Given the description of an element on the screen output the (x, y) to click on. 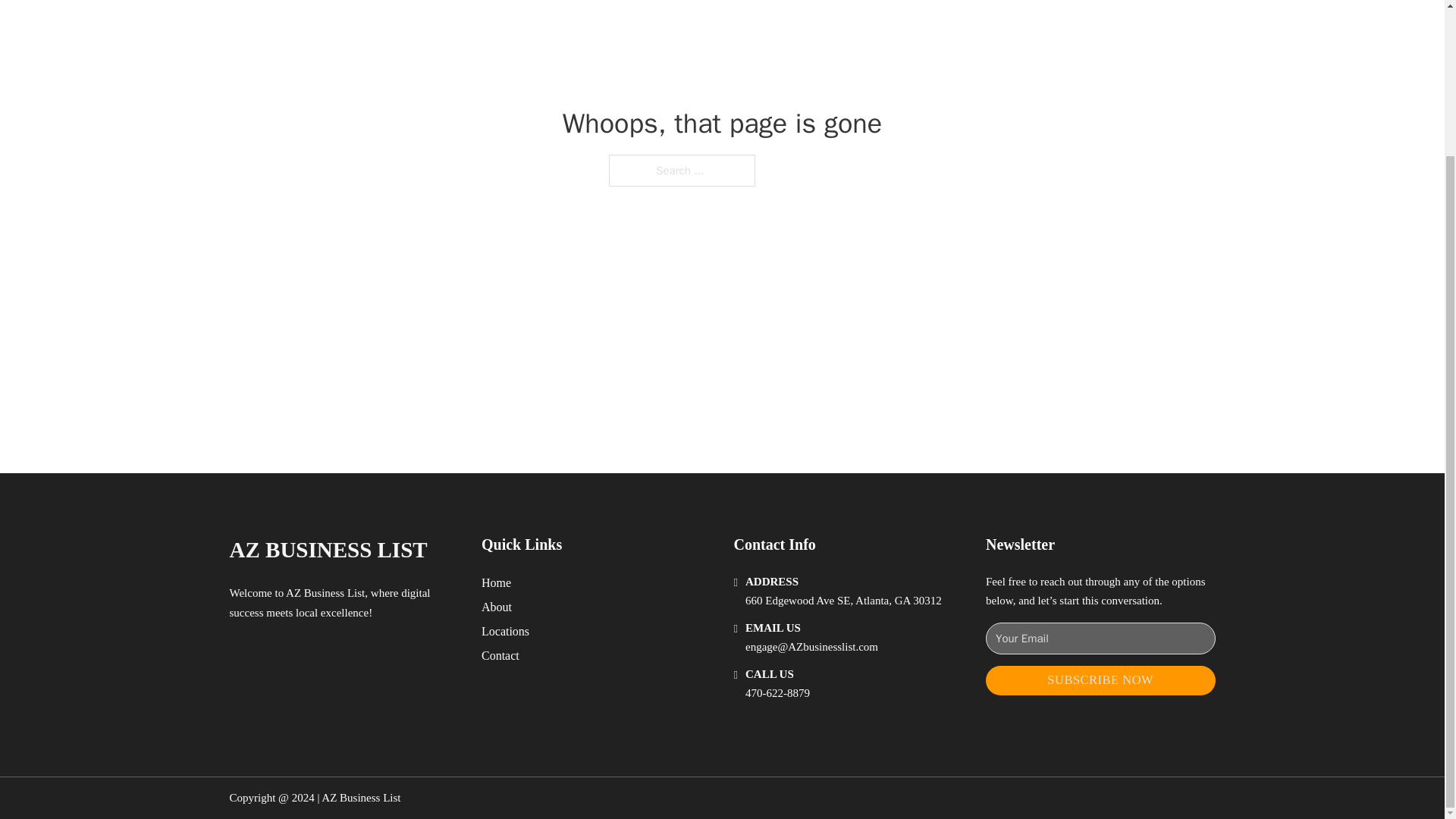
Contact (500, 655)
About (496, 607)
Locations (505, 630)
SUBSCRIBE NOW (1100, 680)
Home (496, 582)
AZ BUSINESS LIST (327, 549)
470-622-8879 (777, 693)
